Given the description of an element on the screen output the (x, y) to click on. 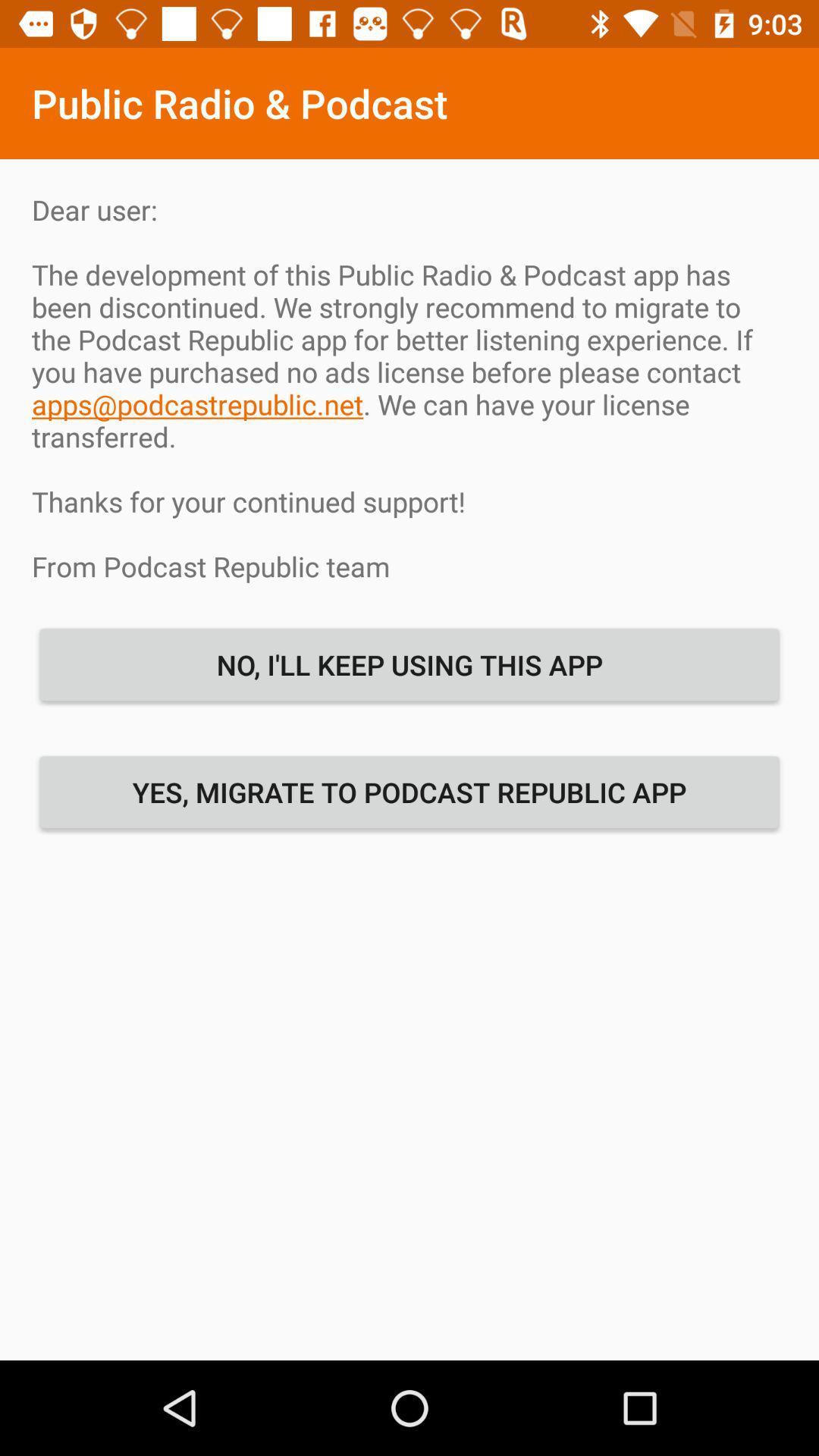
turn on the item below dear user the item (409, 664)
